Given the description of an element on the screen output the (x, y) to click on. 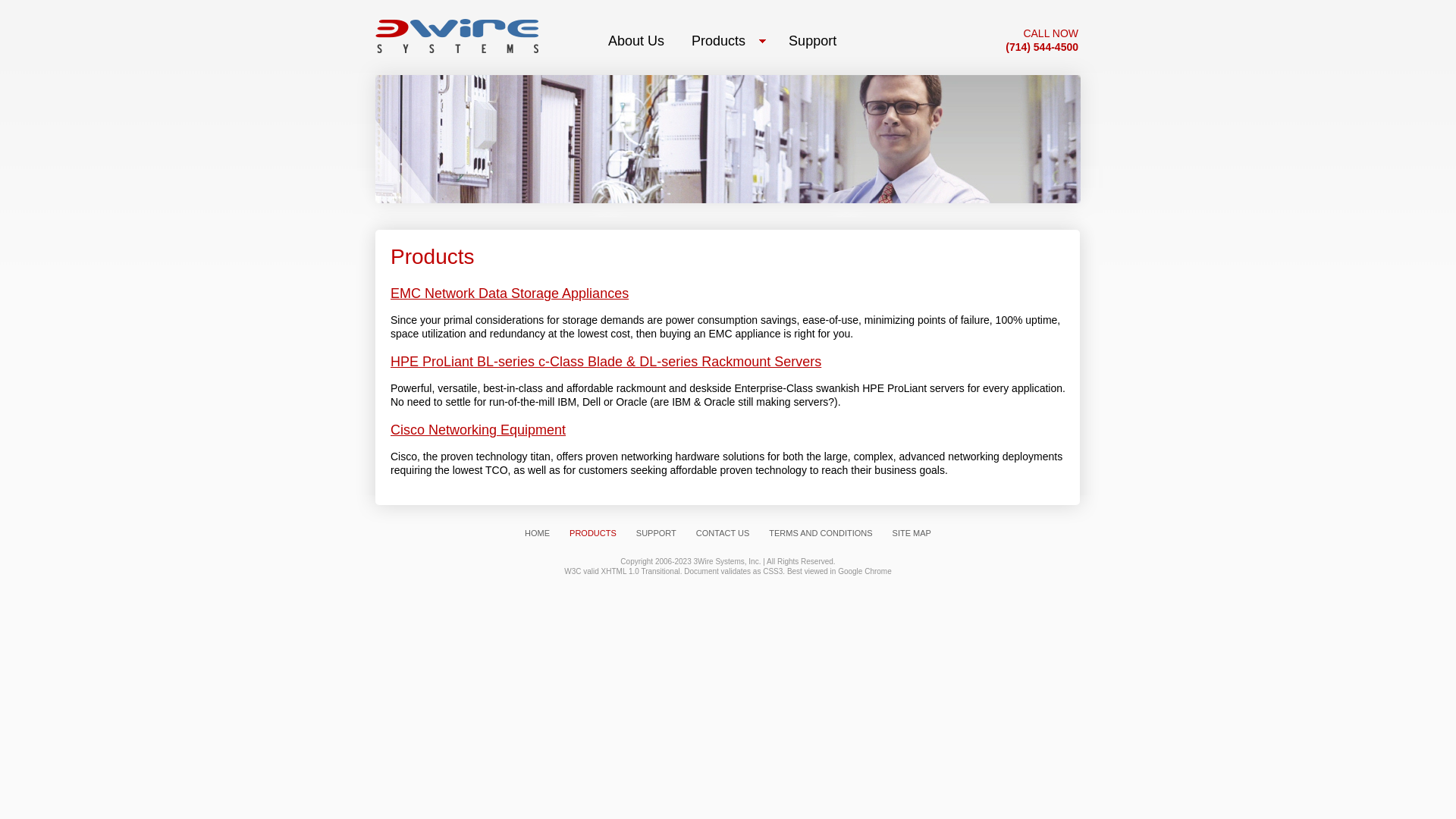
EMC Network Data Storage Appliances Element type: text (509, 293)
 About Us  Element type: text (636, 40)
PRODUCTS Element type: text (592, 532)
TERMS AND CONDITIONS Element type: text (820, 532)
Google Chrome Element type: text (864, 571)
Cisco Networking Equipment Element type: text (477, 429)
 Products  Element type: text (726, 40)
3Wire Systems, Inc. Element type: text (727, 561)
3Wire Systems Element type: text (456, 34)
SUPPORT Element type: text (656, 532)
SITE MAP Element type: text (911, 532)
CONTACT US Element type: text (722, 532)
 Support  Element type: text (812, 40)
HOME Element type: text (536, 532)
